Given the description of an element on the screen output the (x, y) to click on. 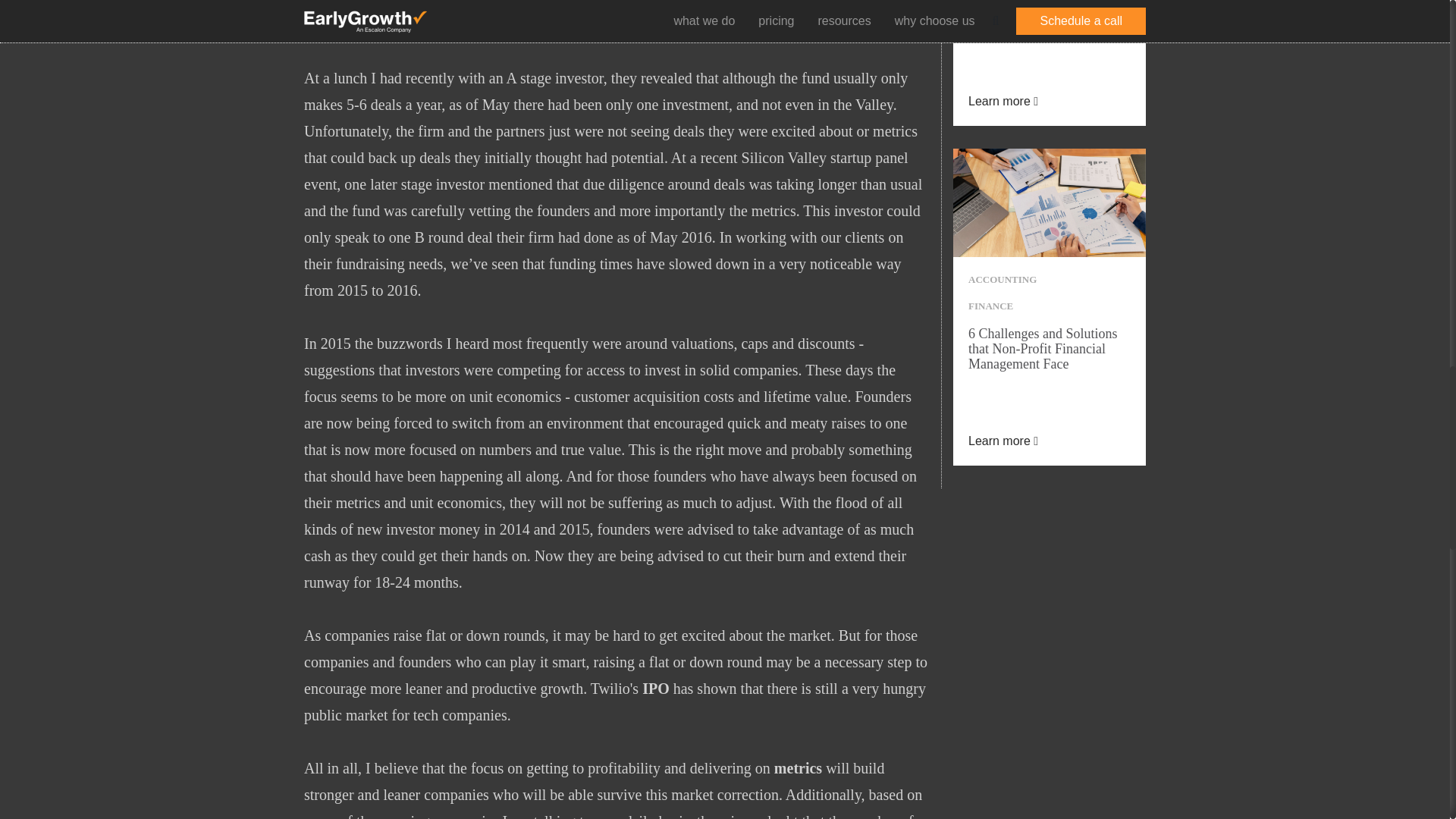
Financial Management (1049, 202)
